Given the description of an element on the screen output the (x, y) to click on. 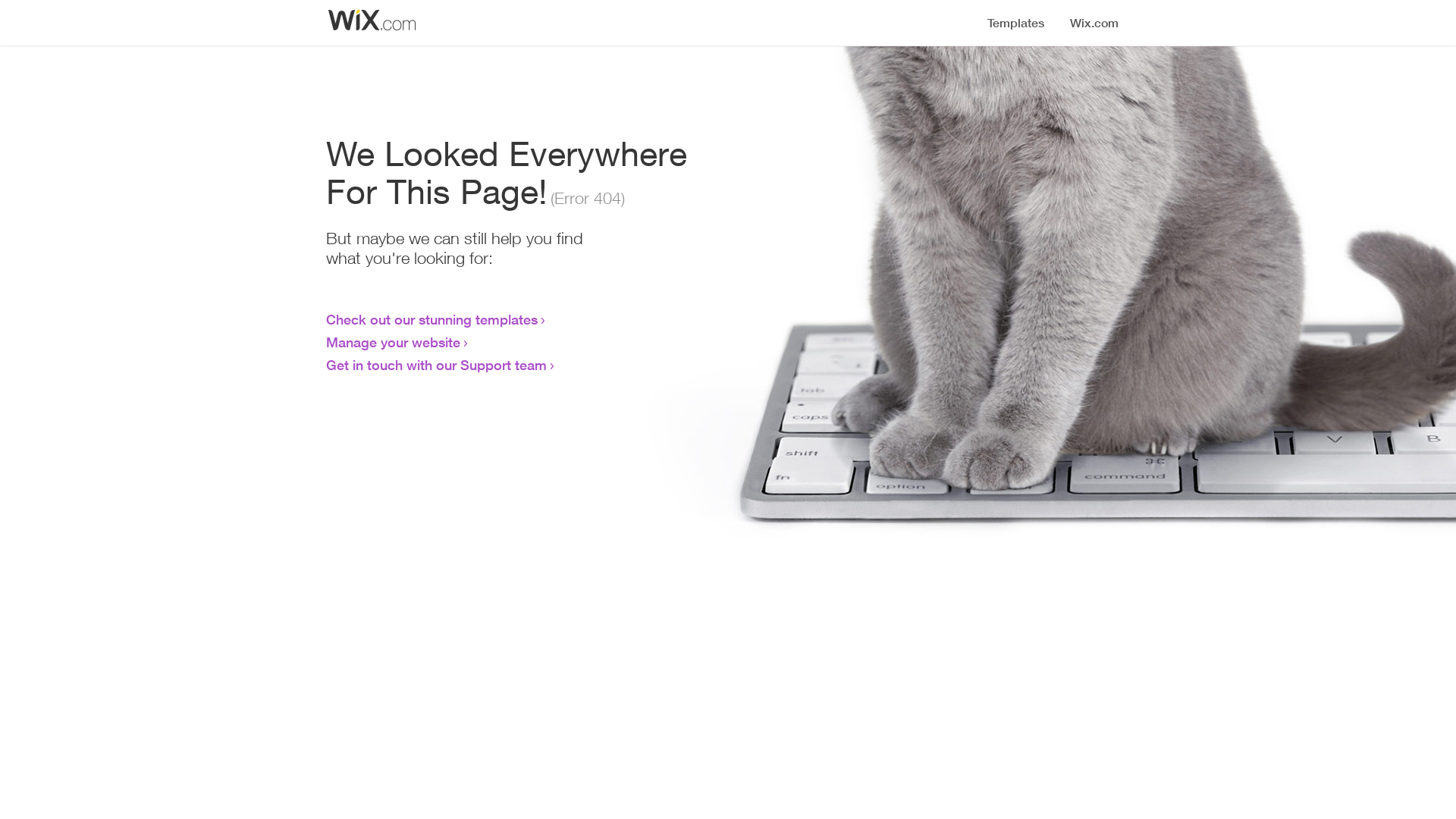
Get in touch with our Support team Element type: text (436, 364)
Manage your website Element type: text (393, 341)
Check out our stunning templates Element type: text (431, 318)
